Given the description of an element on the screen output the (x, y) to click on. 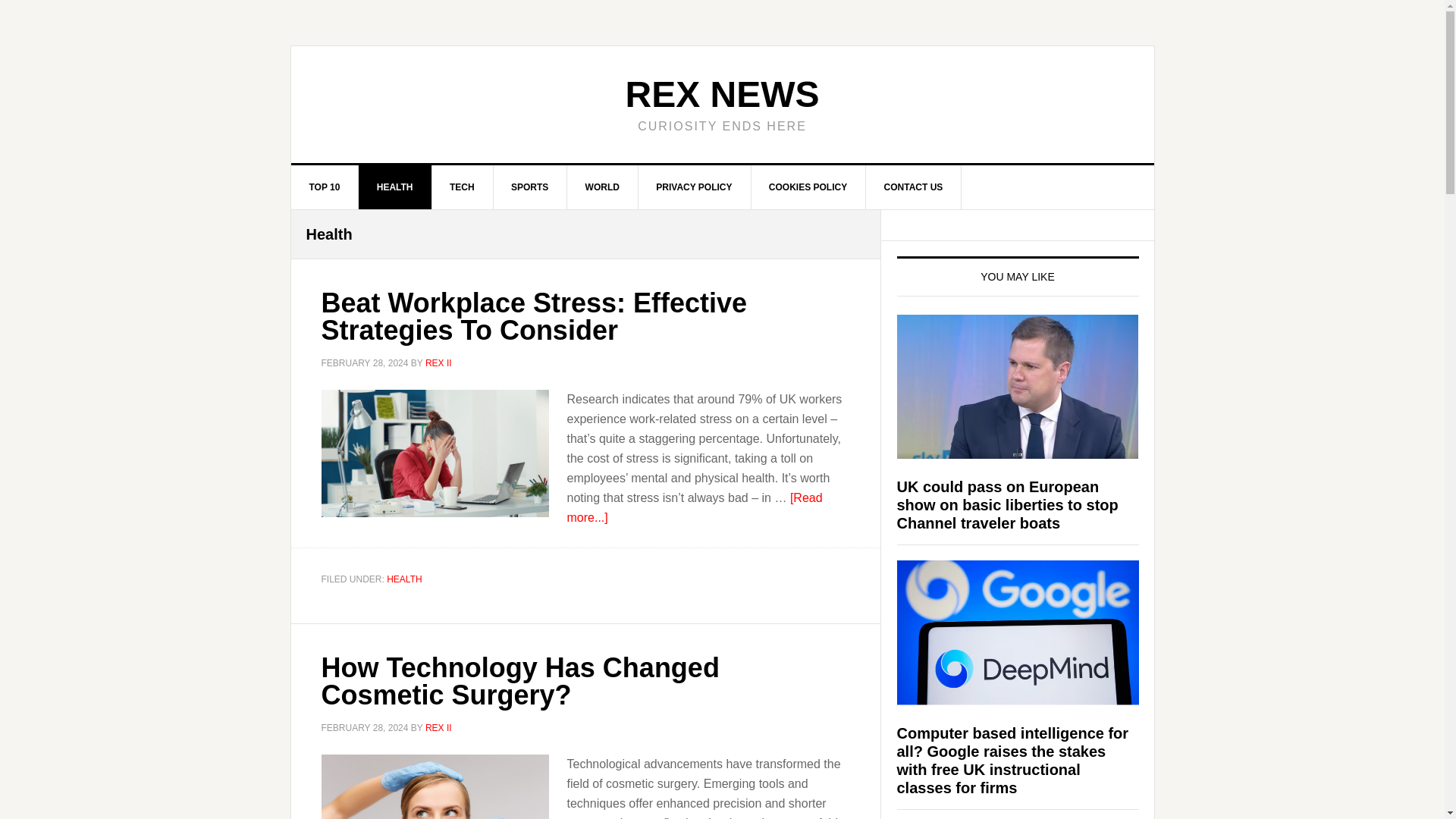
Beat Workplace Stress: Effective Strategies To Consider (534, 316)
HEALTH (404, 578)
WORLD (603, 187)
REX II (438, 362)
PRIVACY POLICY (694, 187)
HEALTH (395, 187)
TOP 10 (325, 187)
COOKIES POLICY (808, 187)
CONTACT US (914, 187)
REX II (438, 727)
REX NEWS (721, 94)
SPORTS (530, 187)
